Given the description of an element on the screen output the (x, y) to click on. 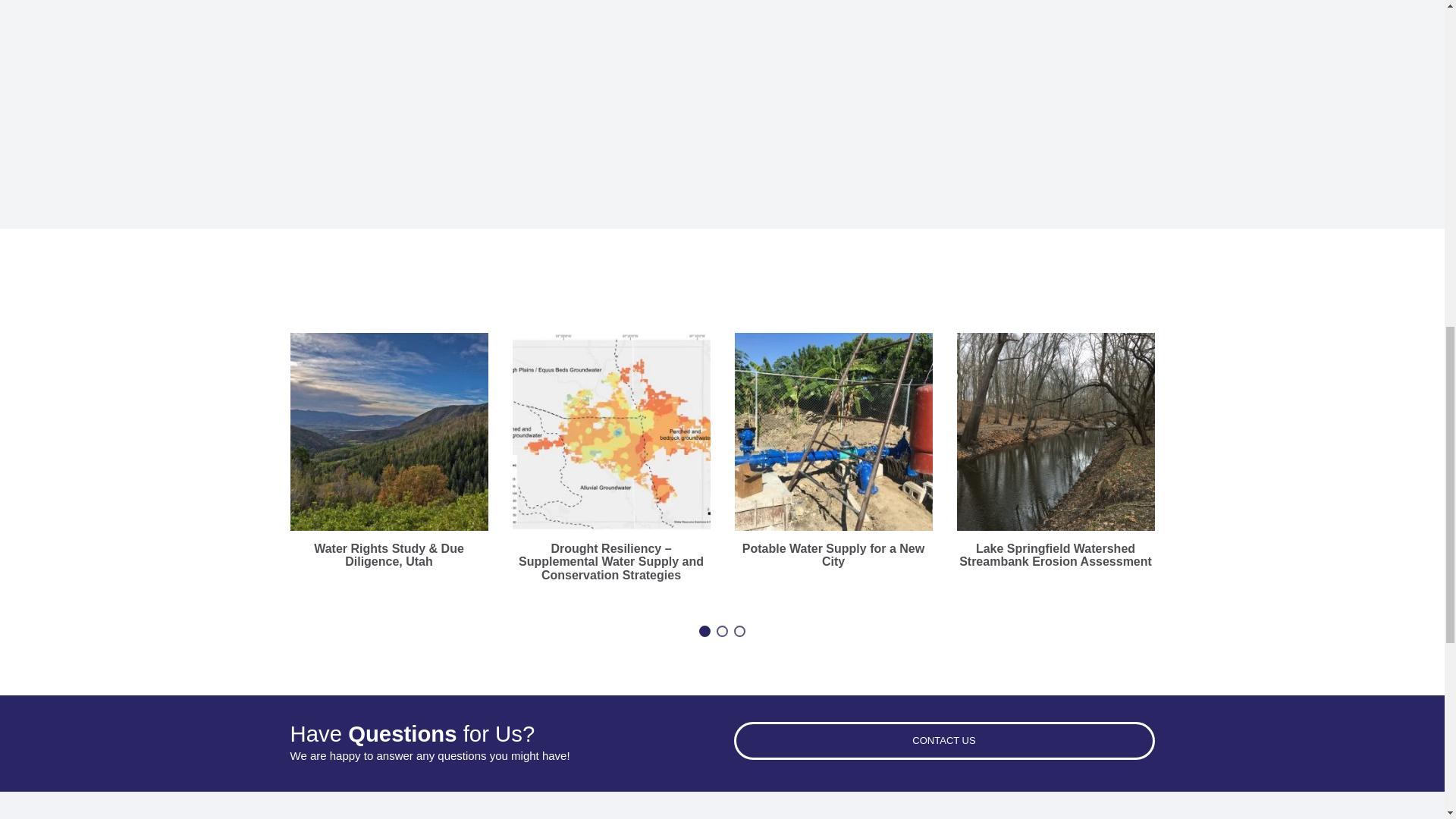
Lake Springfield Watershed Streambank Erosion Assessment (1055, 555)
Potable Water Supply for a New City (833, 555)
